Given the description of an element on the screen output the (x, y) to click on. 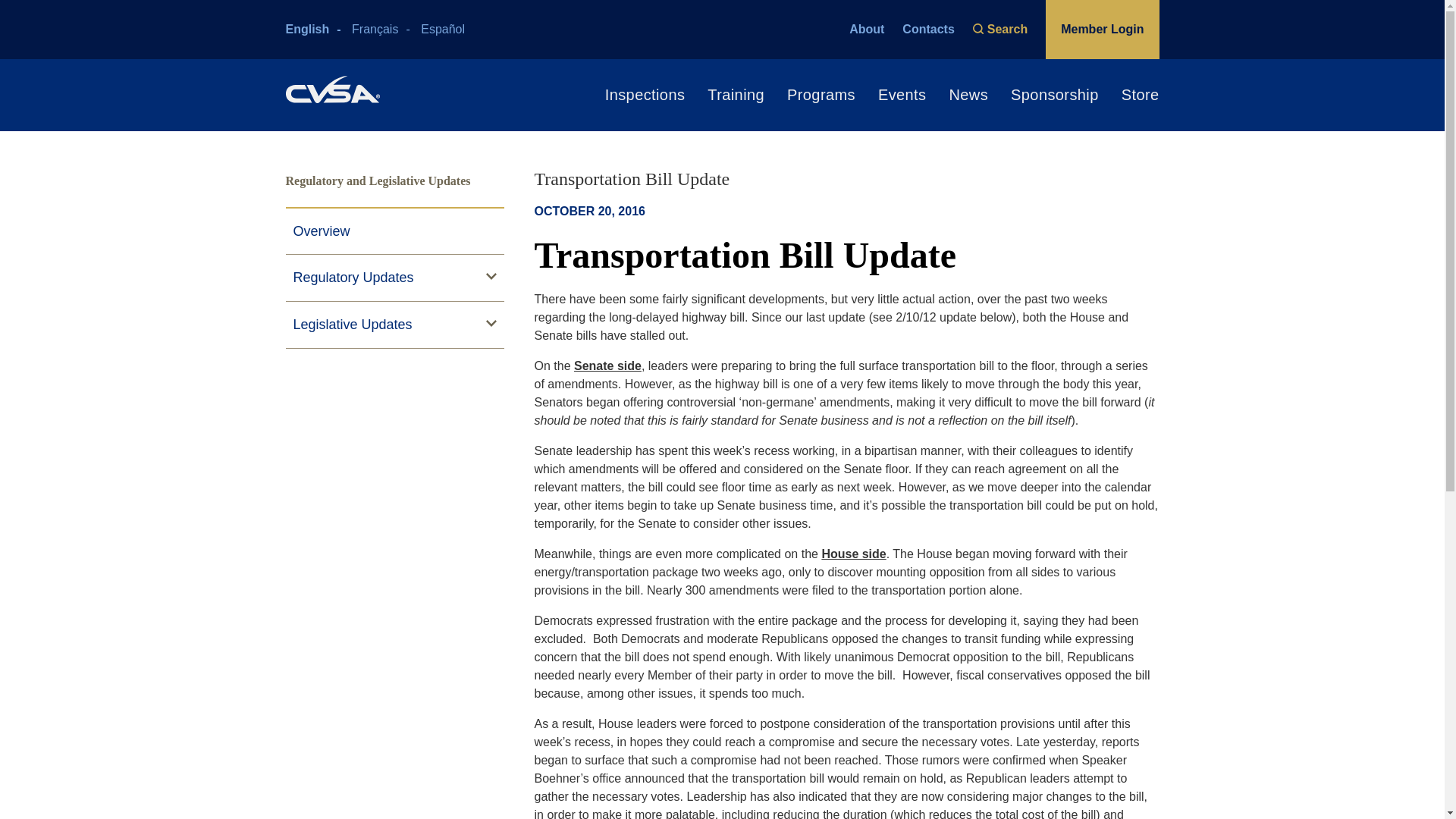
Legislative Updates (394, 325)
News (957, 94)
Store (1128, 94)
Training (724, 94)
Overview (394, 231)
Member Login (1101, 29)
Contacts (927, 29)
Search (1004, 29)
About (866, 29)
Events (891, 94)
